Given the description of an element on the screen output the (x, y) to click on. 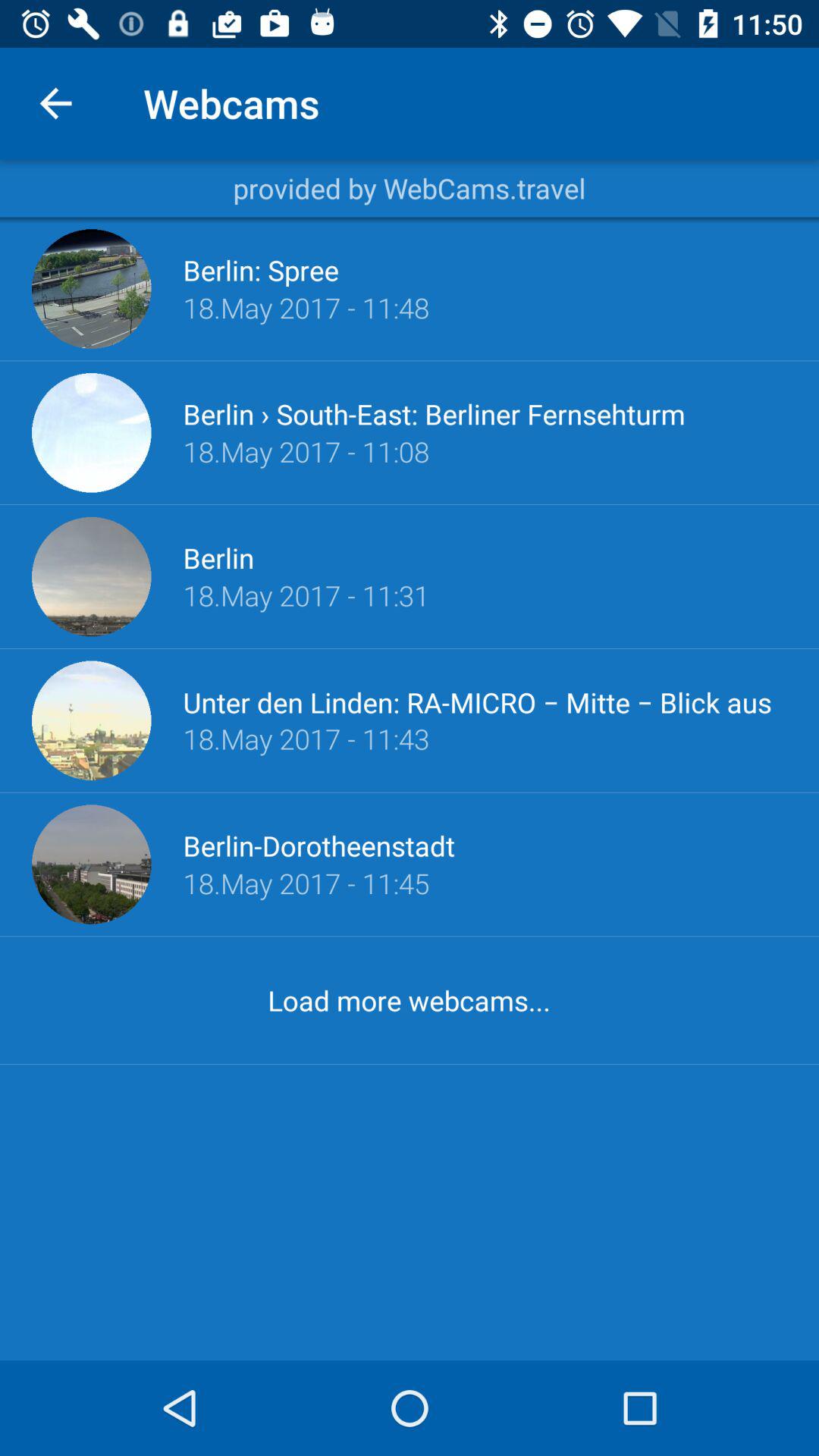
jump until unter den linden icon (485, 701)
